Given the description of an element on the screen output the (x, y) to click on. 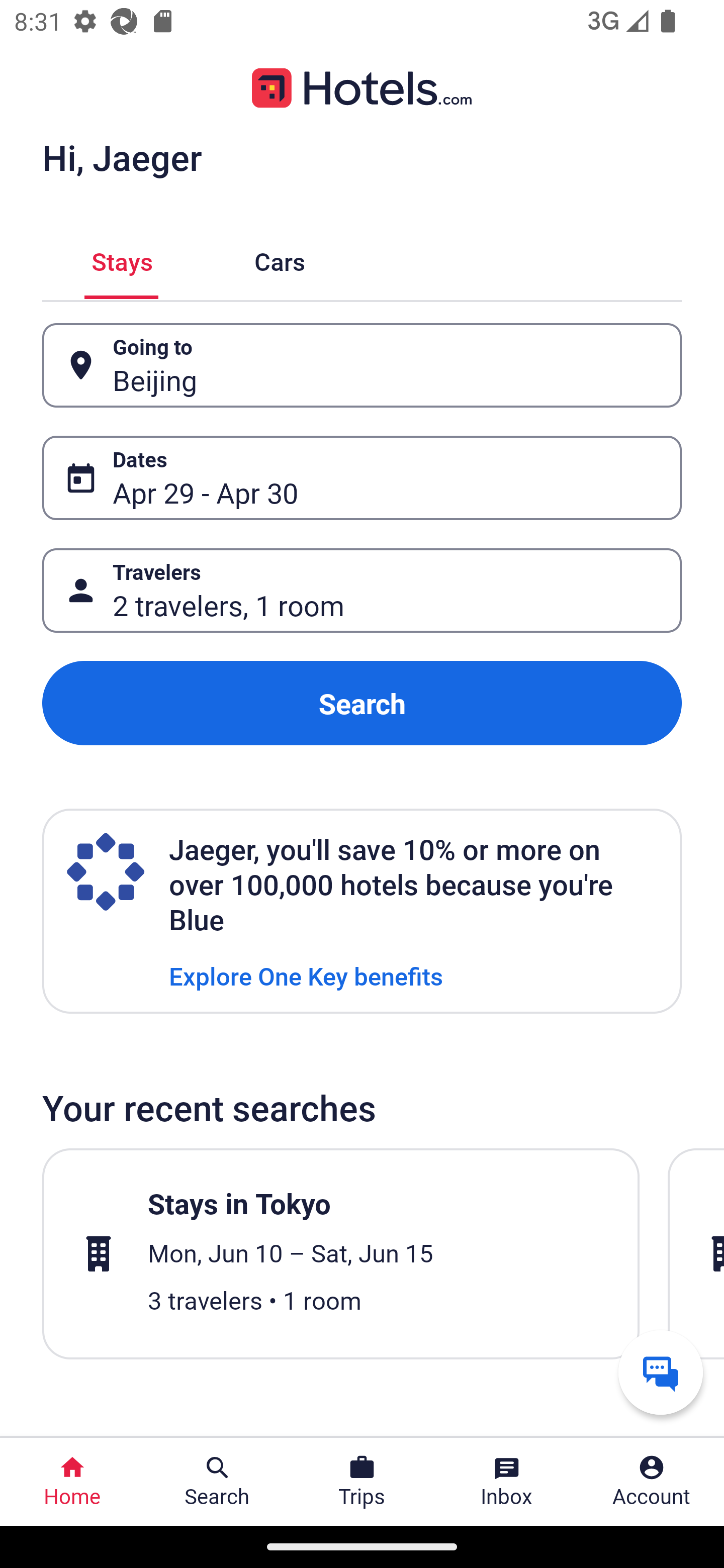
Hi, Jaeger (121, 156)
Cars (279, 259)
Going to Button Beijing (361, 365)
Dates Button Apr 29 - Apr 30 (361, 477)
Travelers Button 2 travelers, 1 room (361, 590)
Search (361, 702)
Get help from a virtual agent (660, 1371)
Search Search Button (216, 1481)
Trips Trips Button (361, 1481)
Inbox Inbox Button (506, 1481)
Account Profile. Button (651, 1481)
